Given the description of an element on the screen output the (x, y) to click on. 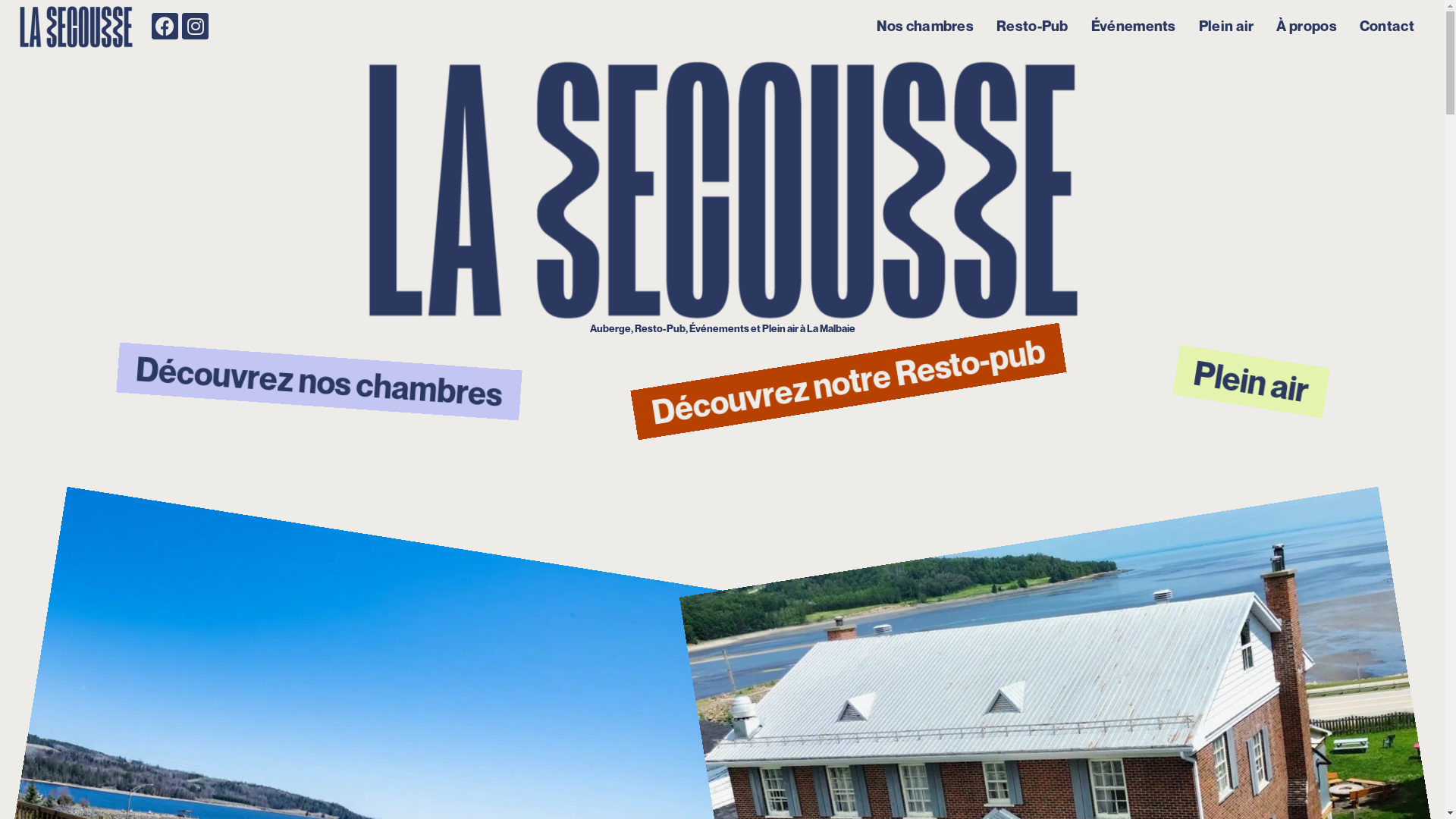
Contact Element type: text (1386, 26)
Instagram Element type: text (195, 25)
Plein air Element type: text (1226, 26)
Facebook Element type: text (164, 25)
Nos chambres Element type: text (925, 26)
Plein air Element type: text (1248, 370)
Resto-Pub Element type: text (1032, 26)
